Given the description of an element on the screen output the (x, y) to click on. 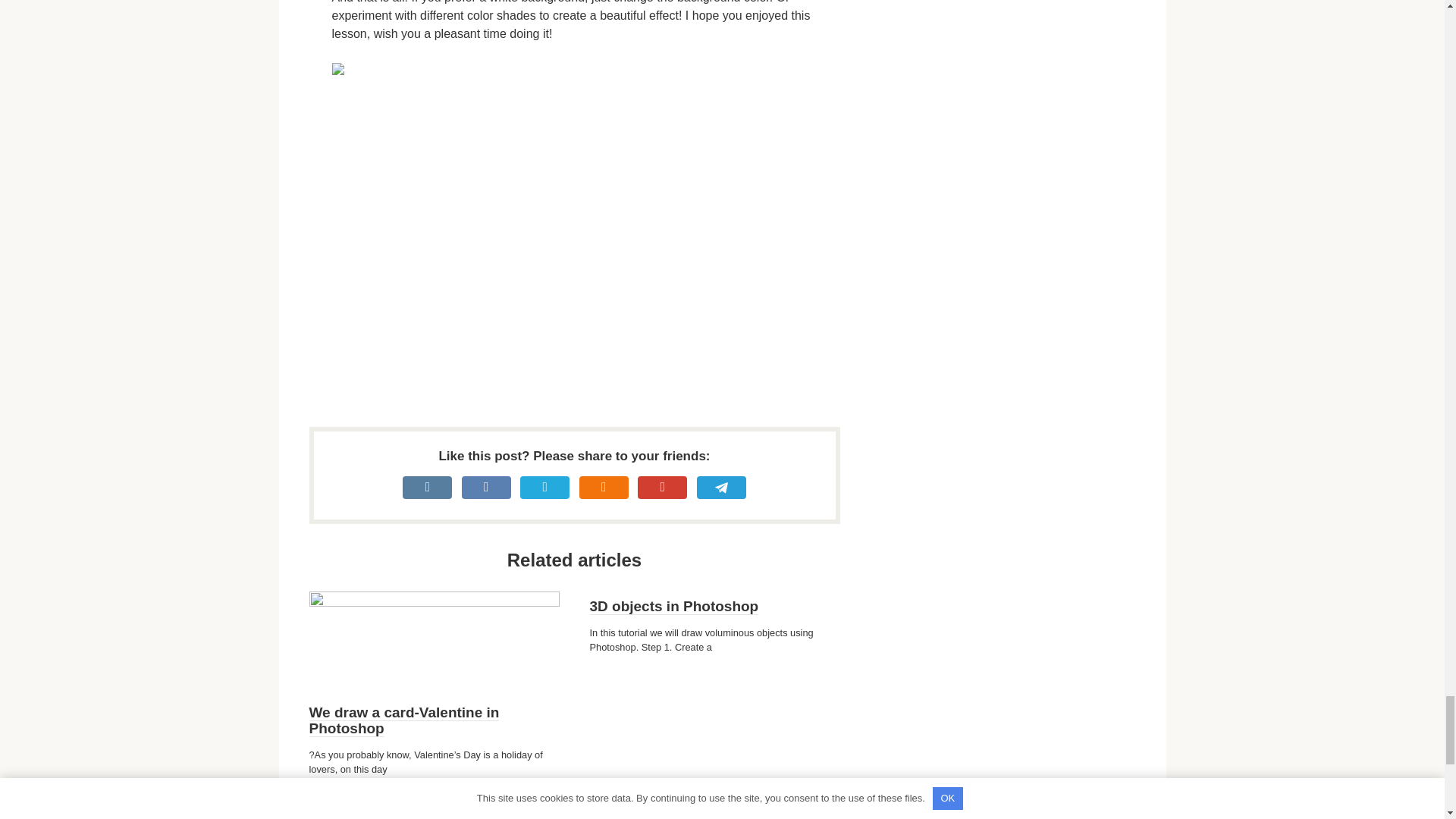
We draw a card-Valentine in Photoshop (403, 720)
3D objects in Photoshop (673, 606)
